Given the description of an element on the screen output the (x, y) to click on. 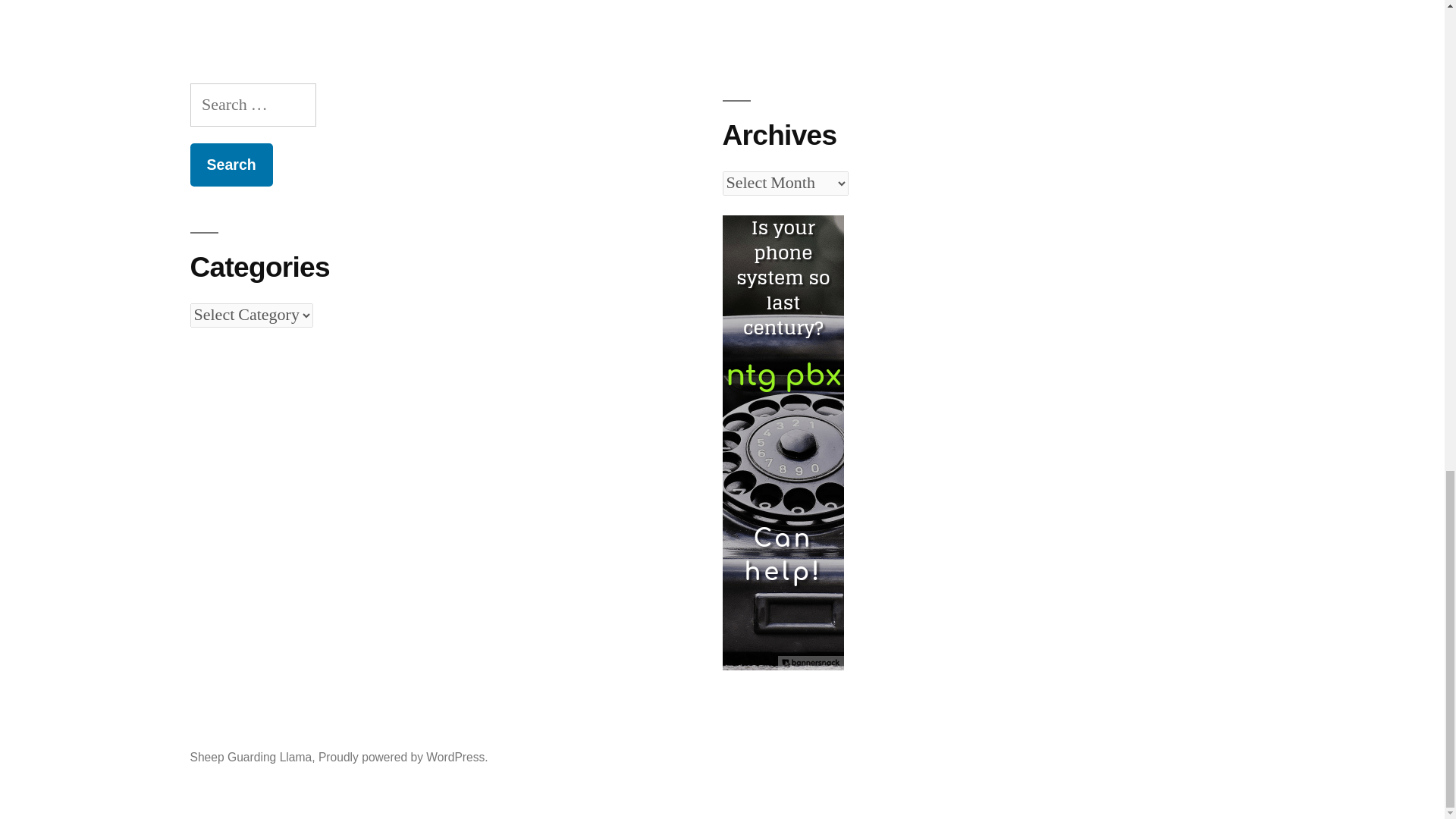
Search (230, 164)
Search (230, 164)
Search (230, 164)
Proudly powered by WordPress. (402, 757)
Sheep Guarding Llama (250, 757)
